Given the description of an element on the screen output the (x, y) to click on. 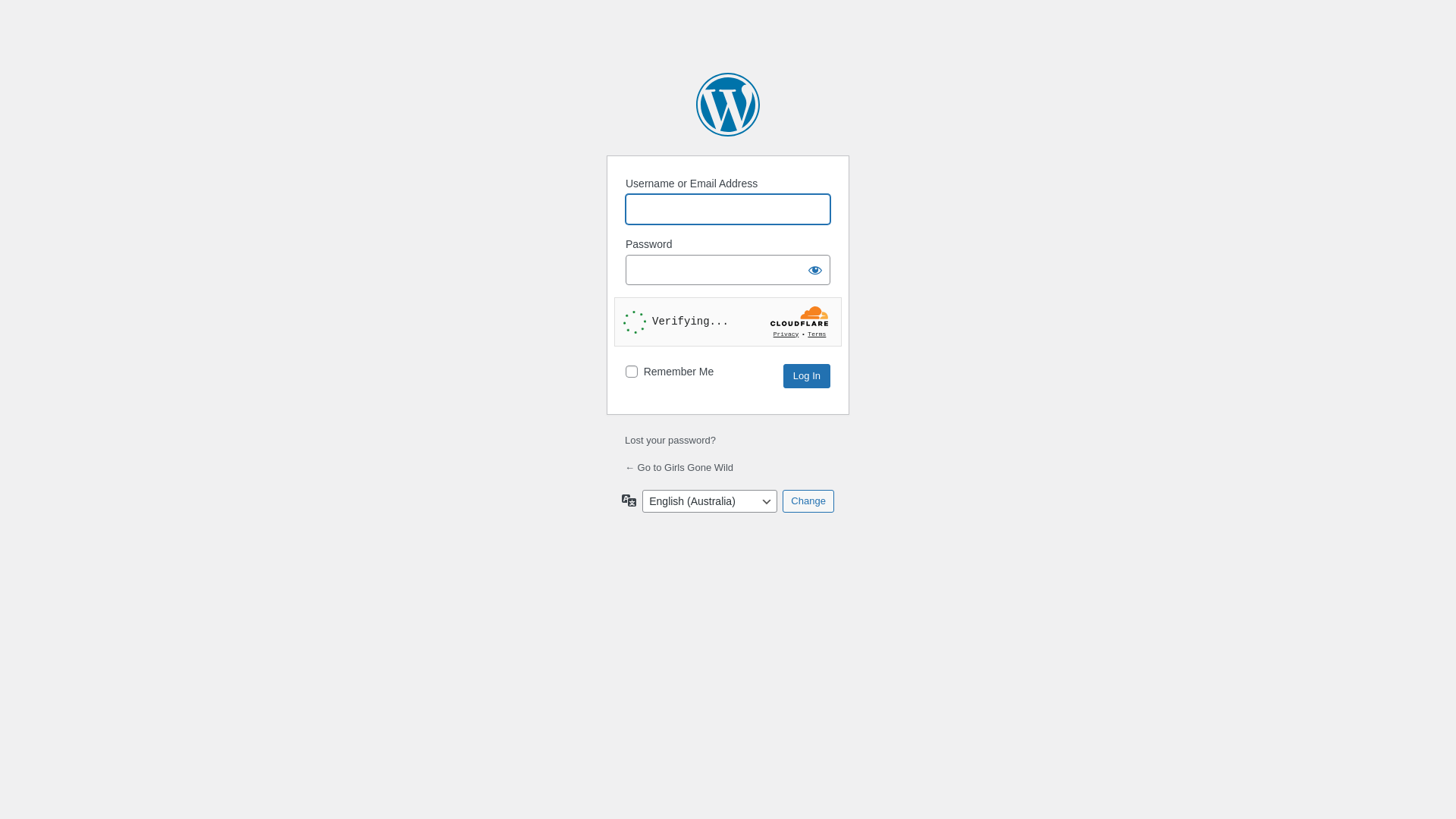
Log In Element type: text (806, 376)
Powered by WordPress Element type: text (727, 104)
Lost your password? Element type: text (669, 439)
Change Element type: text (808, 500)
Widget containing a Cloudflare security challenge Element type: hover (727, 321)
